Given the description of an element on the screen output the (x, y) to click on. 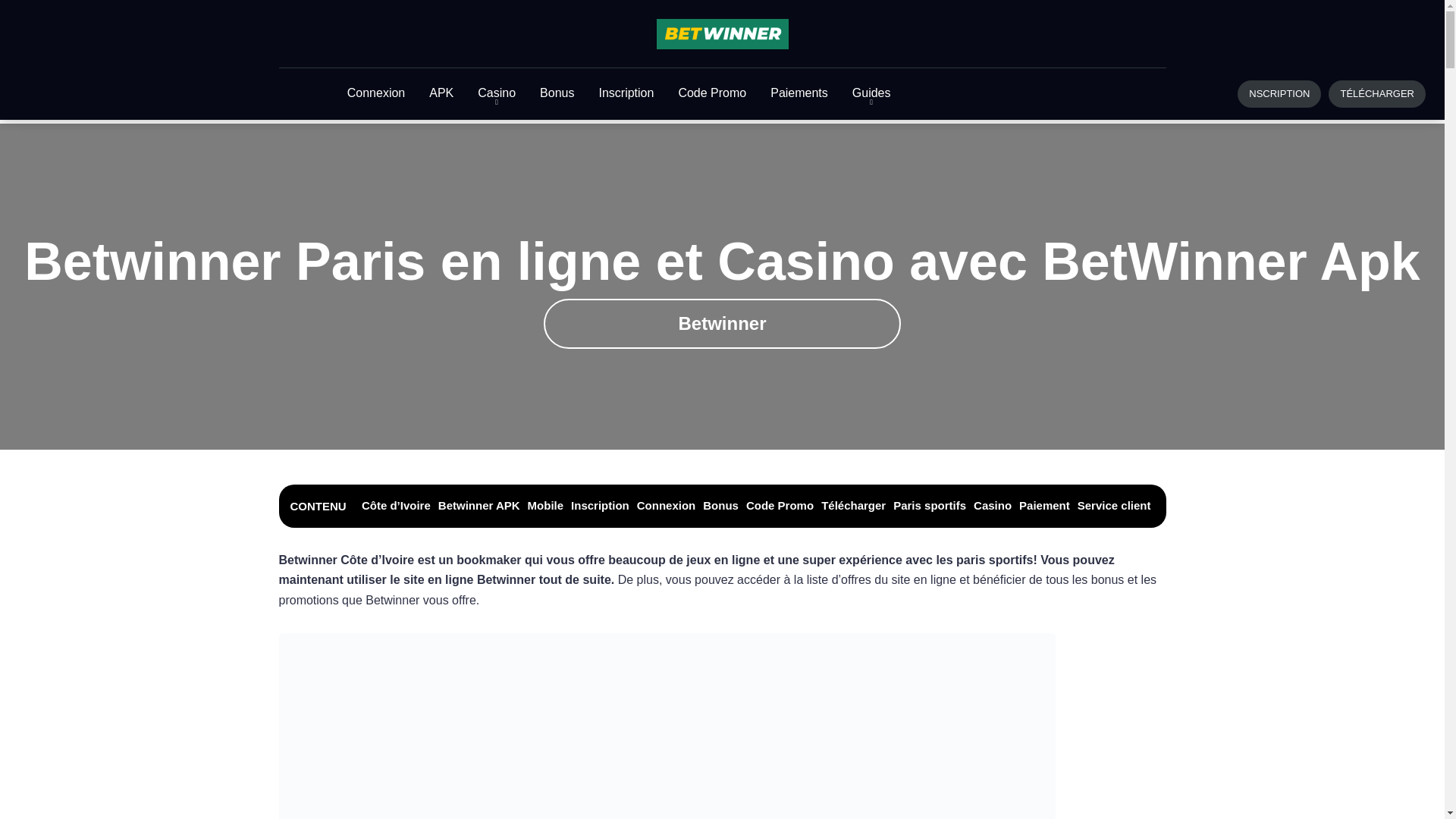
Inscription Element type: text (625, 93)
Mobile Element type: text (545, 504)
Bonus Element type: text (720, 504)
Paiements Element type: text (799, 93)
Betwinner APK Element type: text (479, 504)
Guides Element type: text (871, 93)
Code Promo Element type: text (711, 93)
APK Element type: text (441, 93)
betwinner.ci Element type: hover (722, 33)
Betwinner Element type: text (721, 323)
Casino Element type: text (992, 504)
Casino Element type: text (496, 93)
Paris sportifs Element type: text (929, 504)
Inscription Element type: text (600, 504)
NSCRIPTION Element type: text (1279, 93)
Bonus Element type: text (556, 93)
Connexion Element type: text (666, 504)
Code Promo Element type: text (779, 504)
Paiement Element type: text (1044, 504)
Connexion Element type: text (376, 93)
Service client Element type: text (1114, 504)
